Given the description of an element on the screen output the (x, y) to click on. 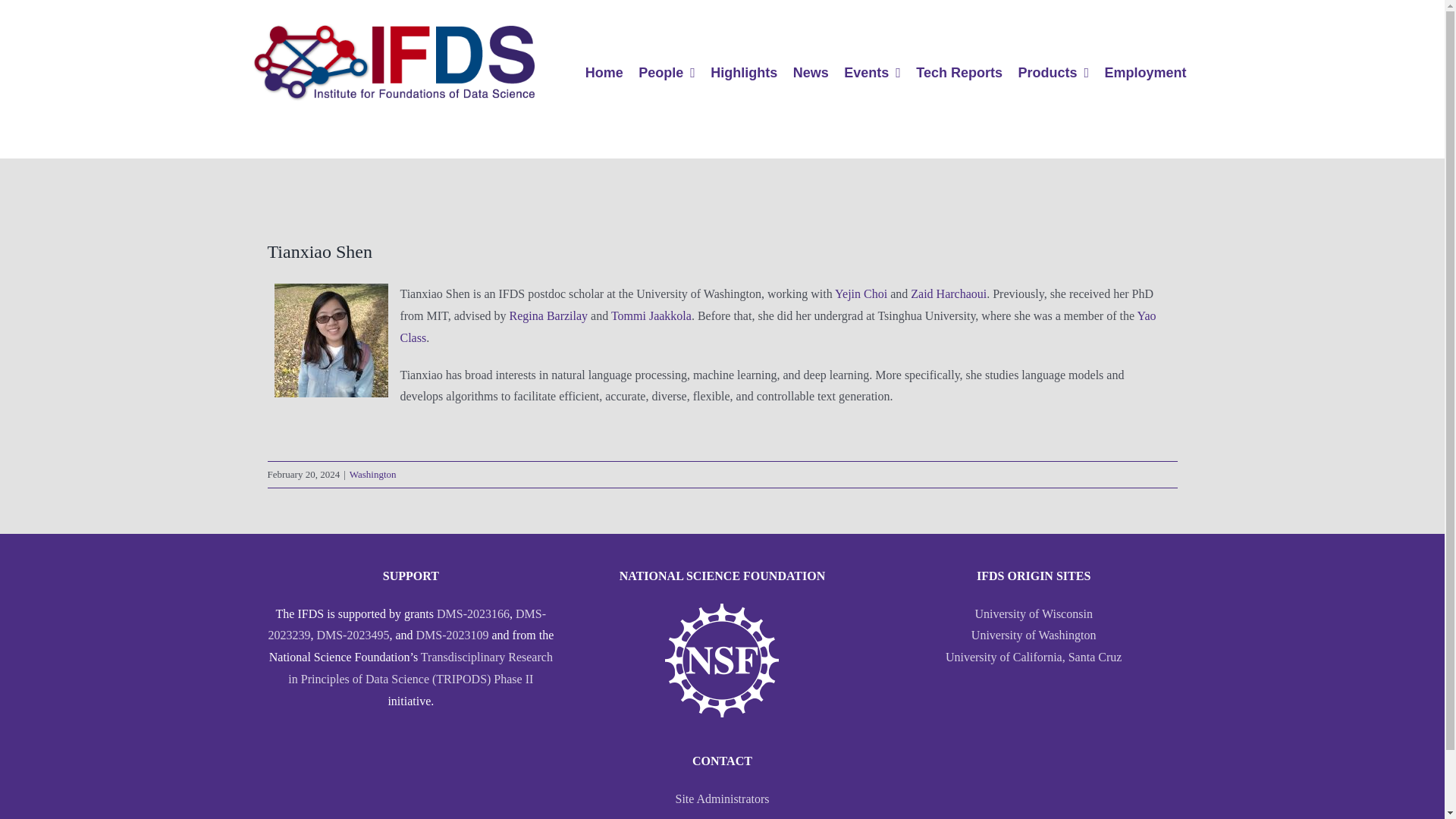
Products (1053, 73)
Events (872, 73)
Home (604, 73)
Tech Reports (959, 73)
Highlights (743, 73)
People (667, 73)
Yao Class (777, 326)
DMS-2023495 (351, 634)
News (810, 73)
DMS-2023166 (472, 613)
Regina Barzilay (548, 315)
Zaid Harchaoui (949, 293)
Tommi Jaakkola (651, 315)
Washington (372, 473)
DMS-2023239 (406, 624)
